Given the description of an element on the screen output the (x, y) to click on. 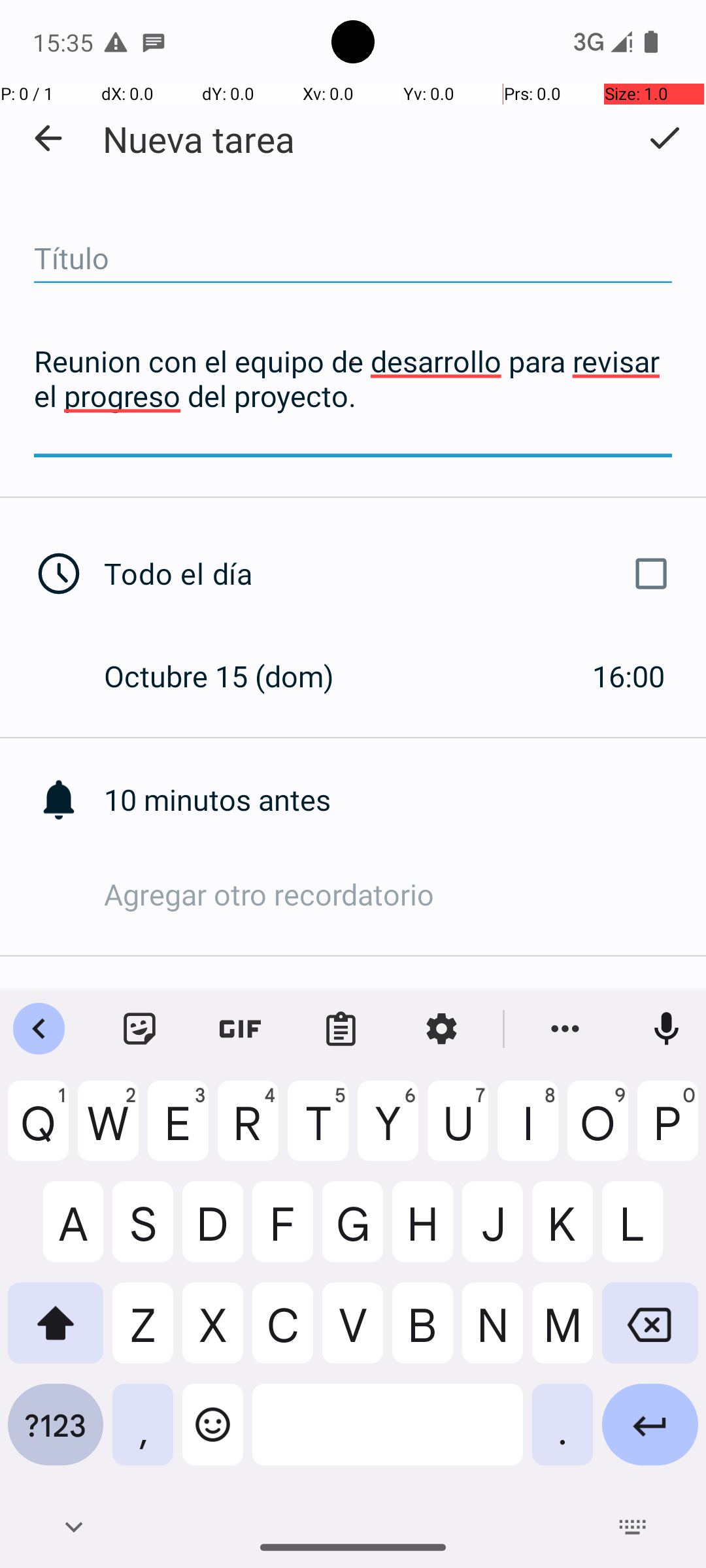
Nueva tarea Element type: android.widget.TextView (198, 138)
Guardar Element type: android.widget.Button (664, 137)
Título Element type: android.widget.EditText (352, 258)
Reunion con el equipo de desarrollo para revisar el progreso del proyecto.
 Element type: android.widget.EditText (352, 396)
Octubre 15 (dom) Element type: android.widget.TextView (232, 675)
16:00 Element type: android.widget.TextView (628, 675)
10 minutos antes Element type: android.widget.TextView (404, 798)
Agregar otro recordatorio Element type: android.widget.TextView (404, 893)
No repetir Element type: android.widget.TextView (404, 1010)
Todo el día Element type: android.widget.CheckBox (390, 573)
